Given the description of an element on the screen output the (x, y) to click on. 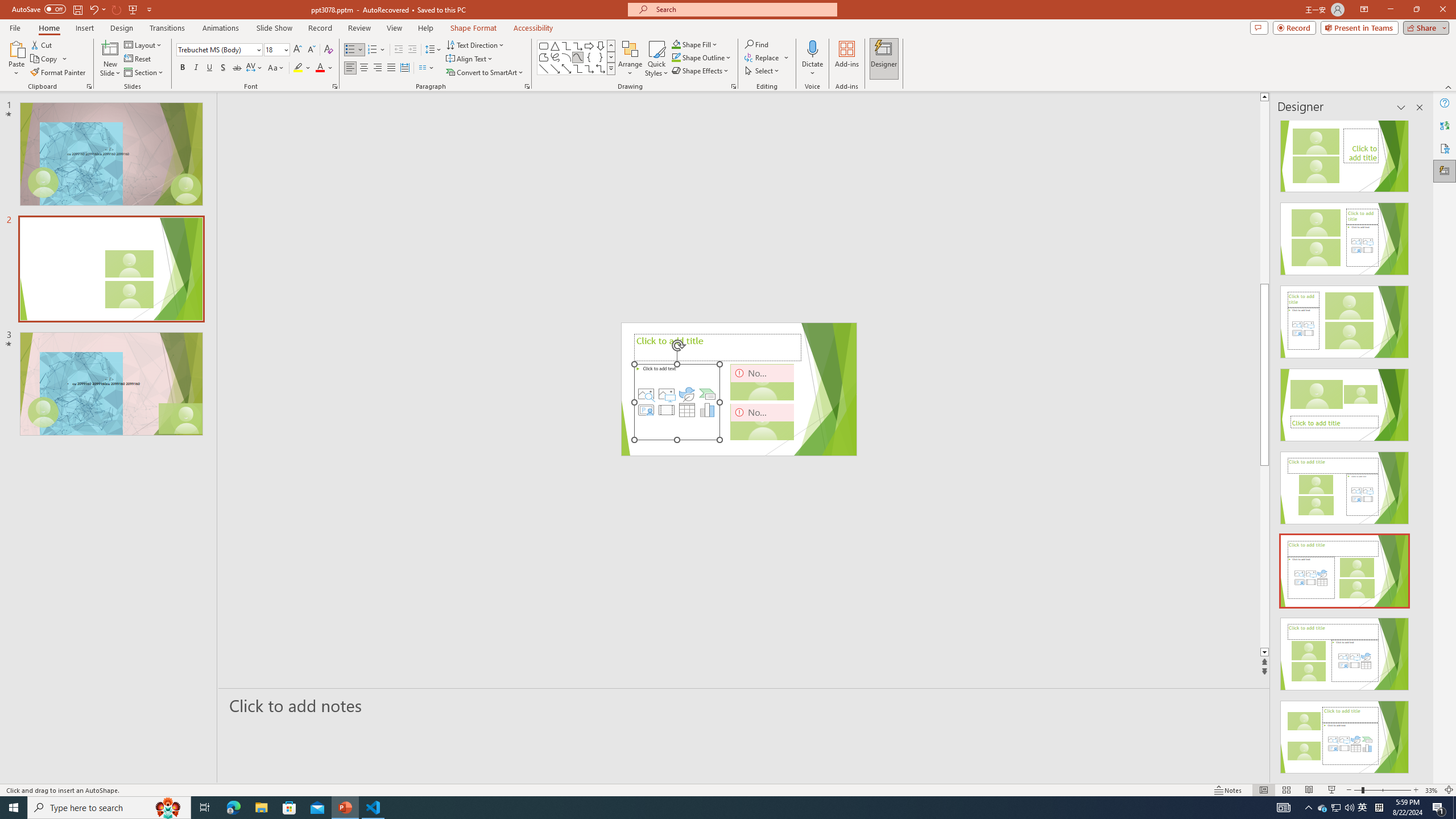
Design Idea (1344, 733)
